Given the description of an element on the screen output the (x, y) to click on. 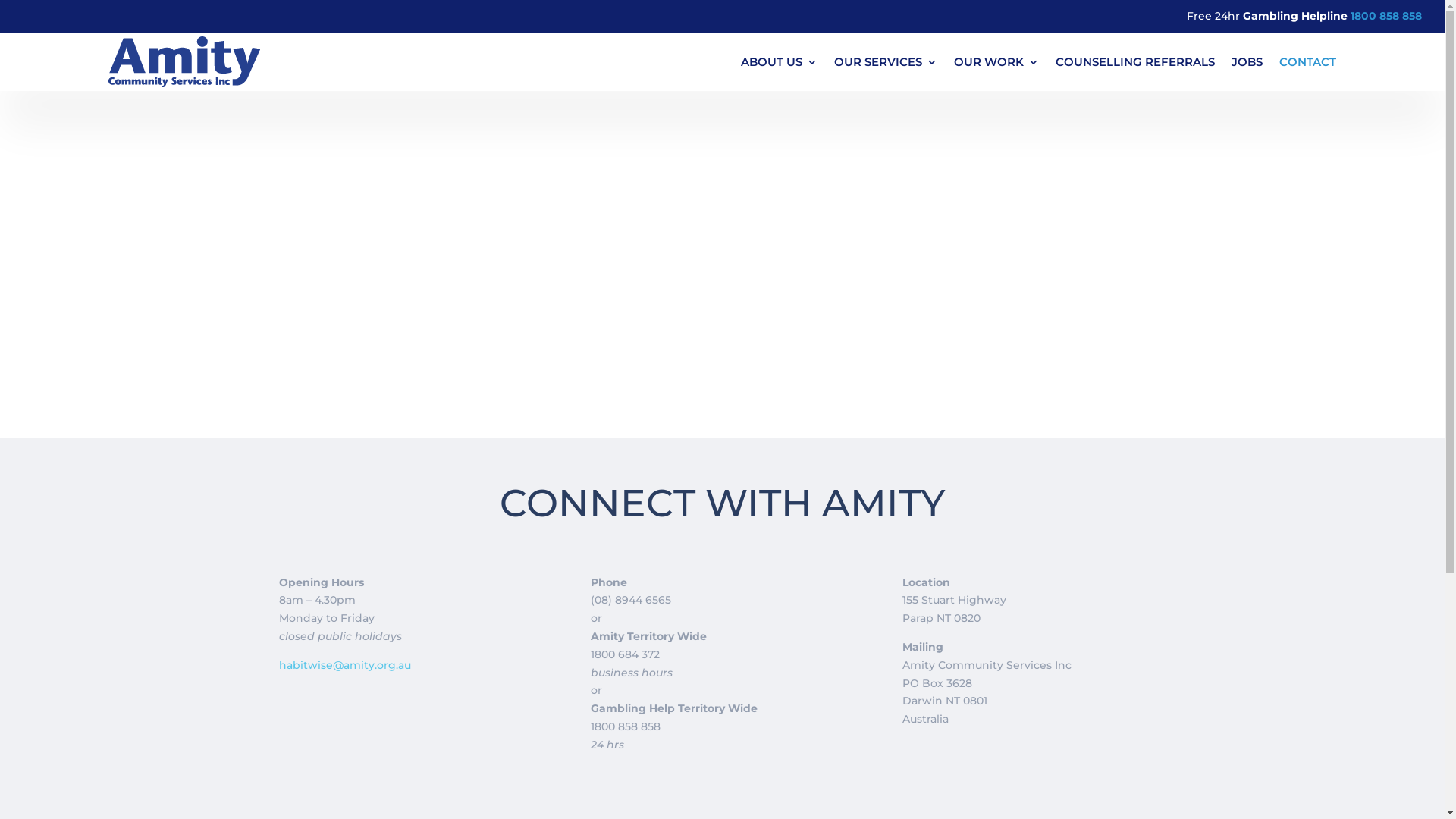
CONTACT Element type: text (1307, 62)
ABOUT US Element type: text (778, 62)
JOBS Element type: text (1246, 62)
COUNSELLING REFERRALS Element type: text (1134, 62)
OUR WORK Element type: text (995, 62)
habitwise@amity.org.au Element type: text (345, 664)
OUR SERVICES Element type: text (885, 62)
